Given the description of an element on the screen output the (x, y) to click on. 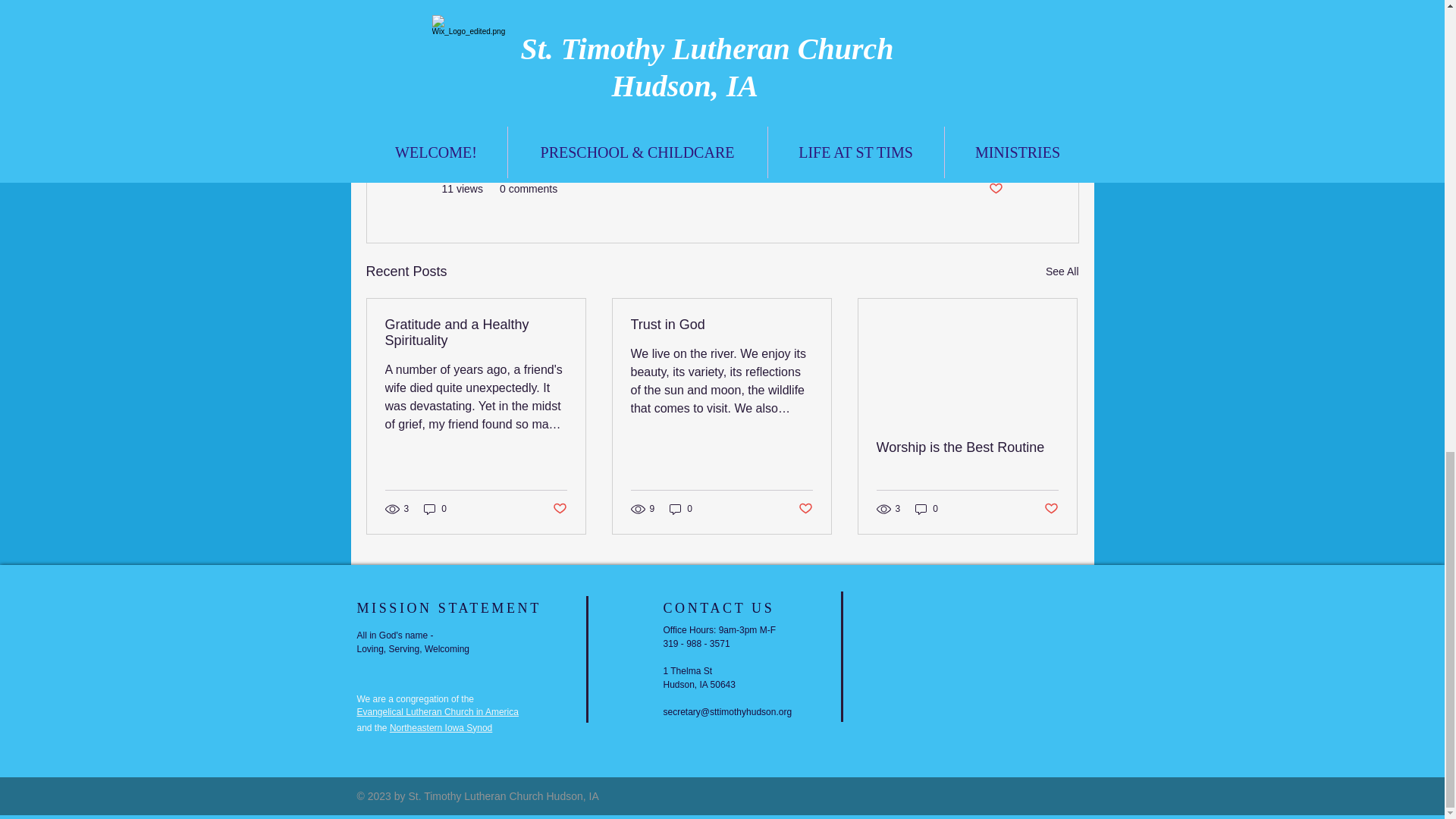
Post not marked as liked (995, 188)
Evangelical Lutheran Church in America (437, 711)
See All (1061, 271)
0 (681, 509)
Worship is the Best Routine (967, 447)
Northeastern Iowa Synod (441, 727)
0 (926, 509)
Post not marked as liked (558, 508)
0 (435, 509)
Post not marked as liked (1050, 508)
Trust in God (721, 324)
Gratitude and a Healthy Spirituality (476, 332)
Post not marked as liked (804, 508)
